Given the description of an element on the screen output the (x, y) to click on. 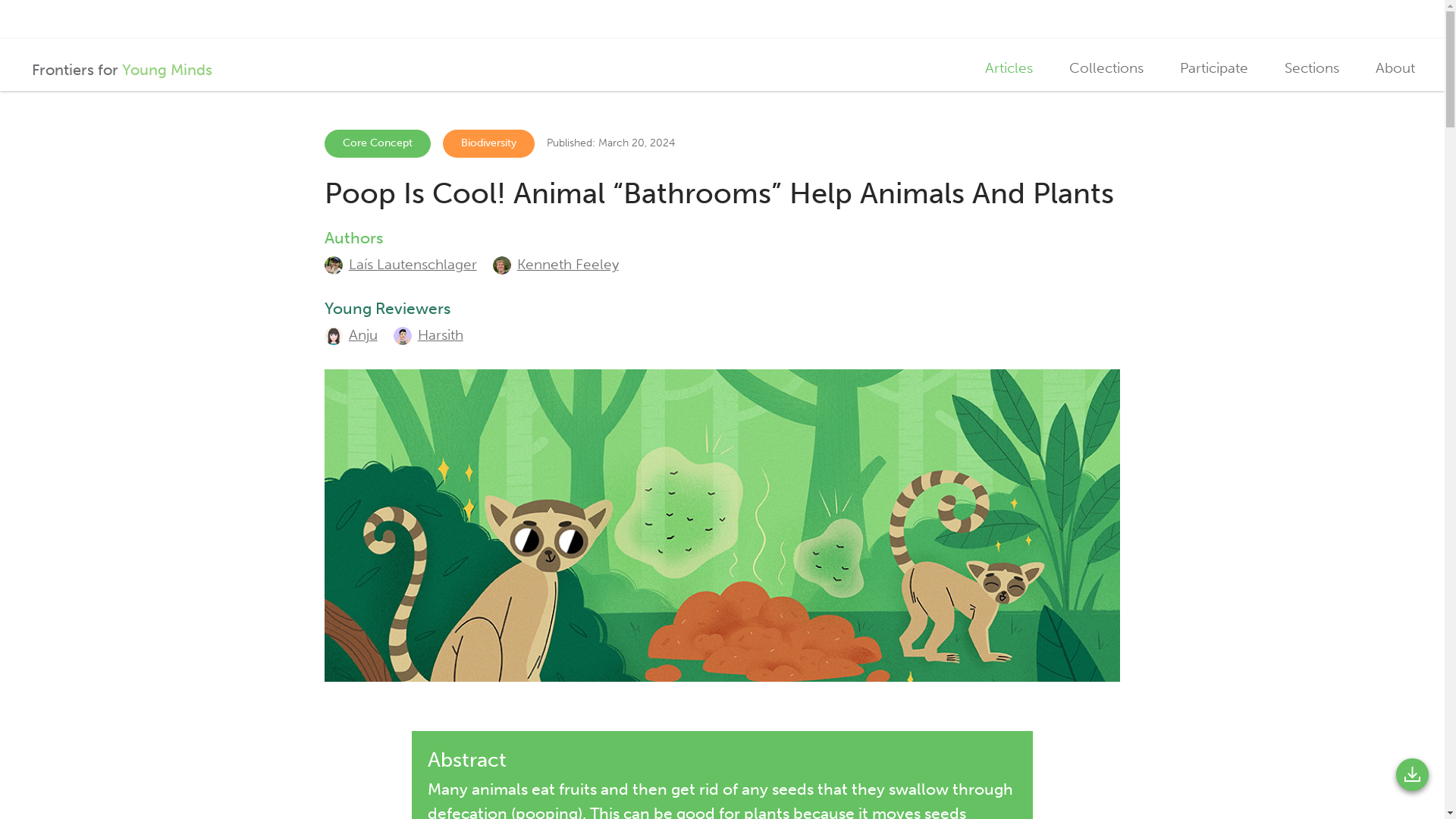
About (1394, 68)
Sections (1311, 68)
Articles (1008, 68)
Participate (1213, 68)
Collections (1106, 68)
Kenneth Feeley (555, 264)
Harsith (428, 335)
Anju (117, 65)
Biodiversity (350, 335)
